Given the description of an element on the screen output the (x, y) to click on. 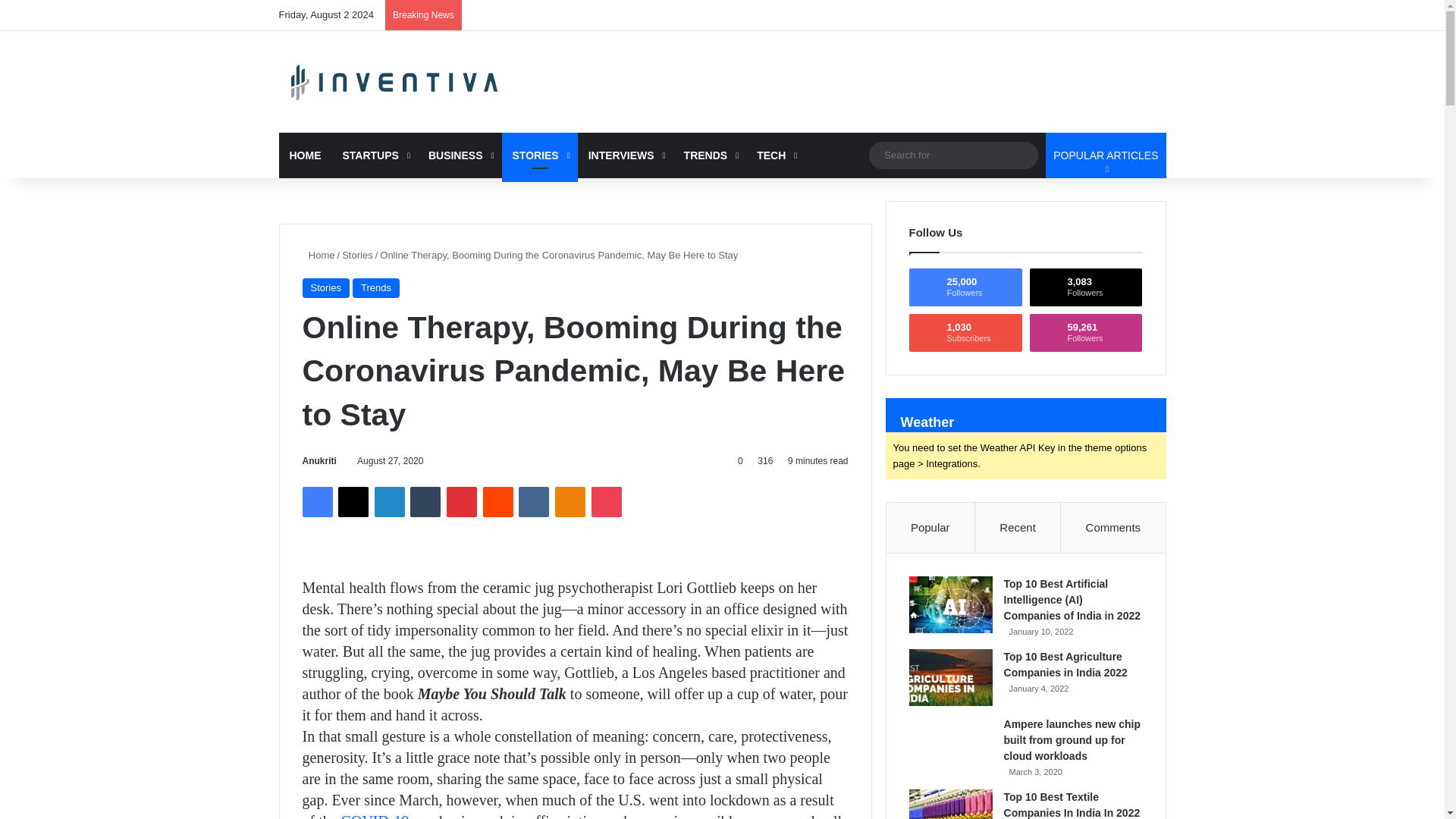
Reddit (498, 501)
BUSINESS (459, 155)
X (352, 501)
Inventiva (395, 81)
STARTUPS (374, 155)
Odnoklassniki (569, 501)
VKontakte (533, 501)
Anukriti (318, 460)
LinkedIn (389, 501)
Facebook (316, 501)
Search for (953, 154)
Tumblr (425, 501)
HOME (305, 155)
Pinterest (461, 501)
